Given the description of an element on the screen output the (x, y) to click on. 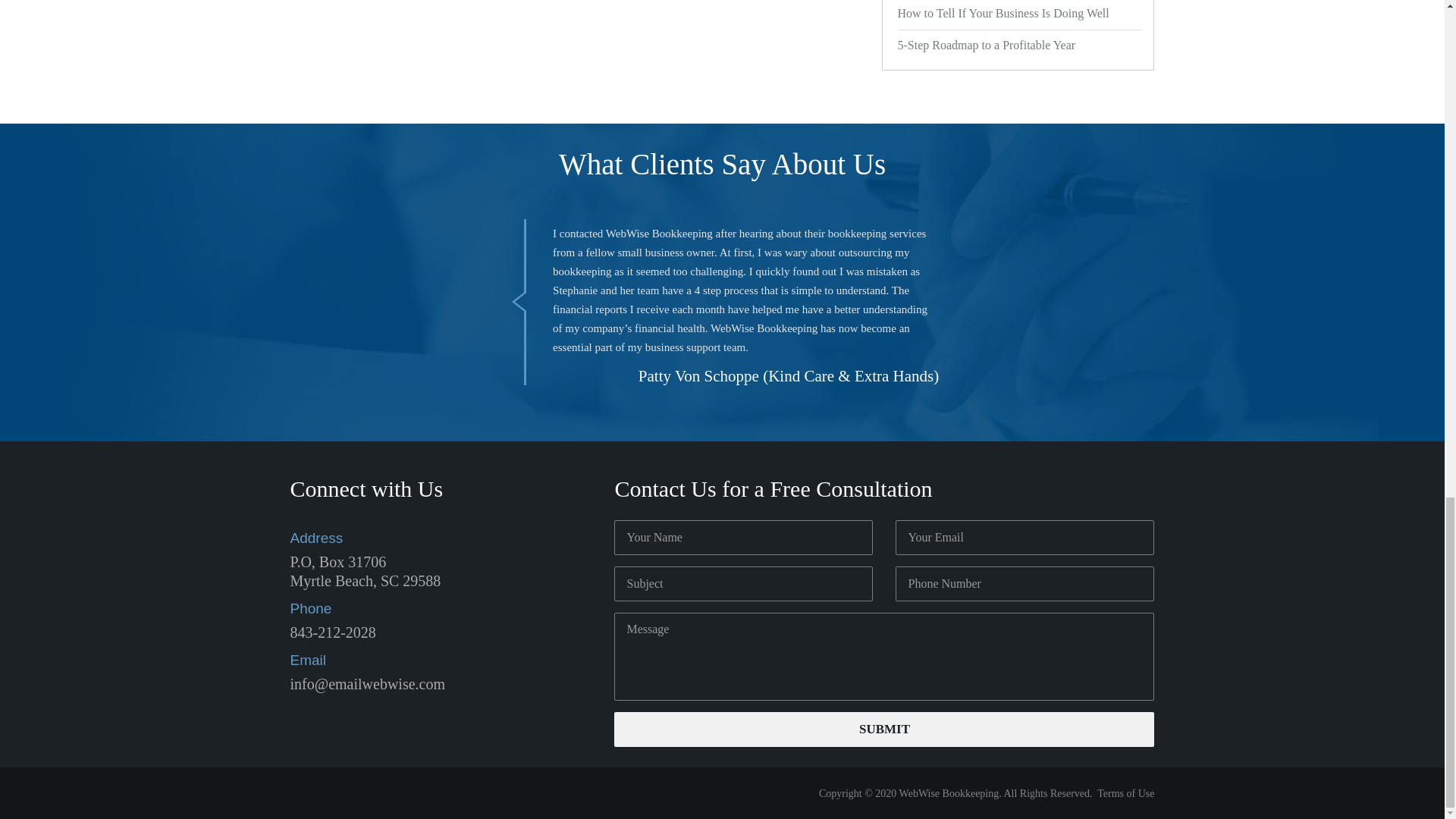
How to Tell If Your Business Is Doing Well (1018, 14)
Submit (884, 728)
Submit (884, 728)
5-Step Roadmap to a Profitable Year (1018, 45)
Terms of Use (1125, 793)
843-212-2028 (332, 632)
